Given the description of an element on the screen output the (x, y) to click on. 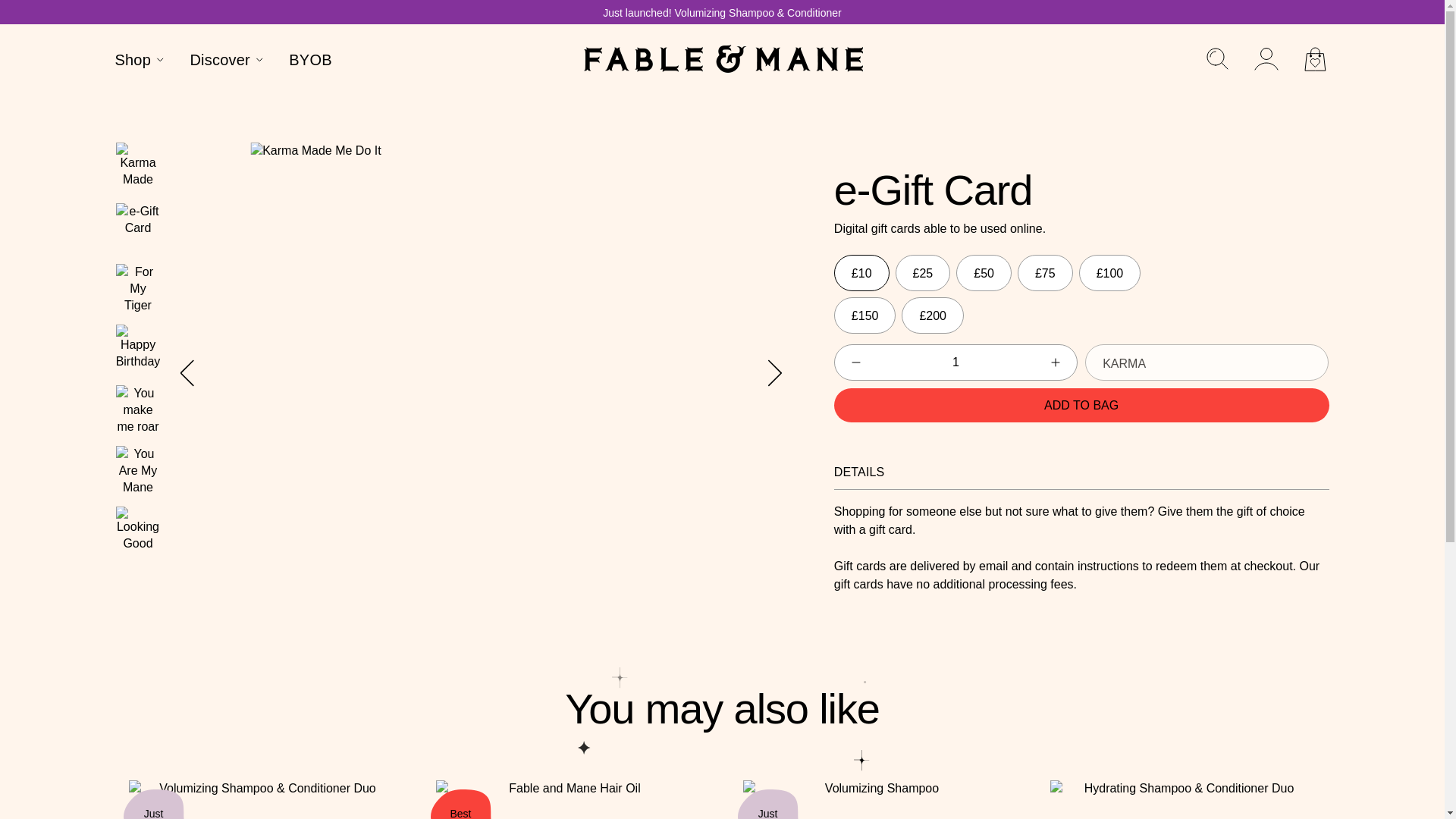
BYOB (309, 62)
1 (955, 361)
Shop (141, 62)
Discover (226, 62)
